Given the description of an element on the screen output the (x, y) to click on. 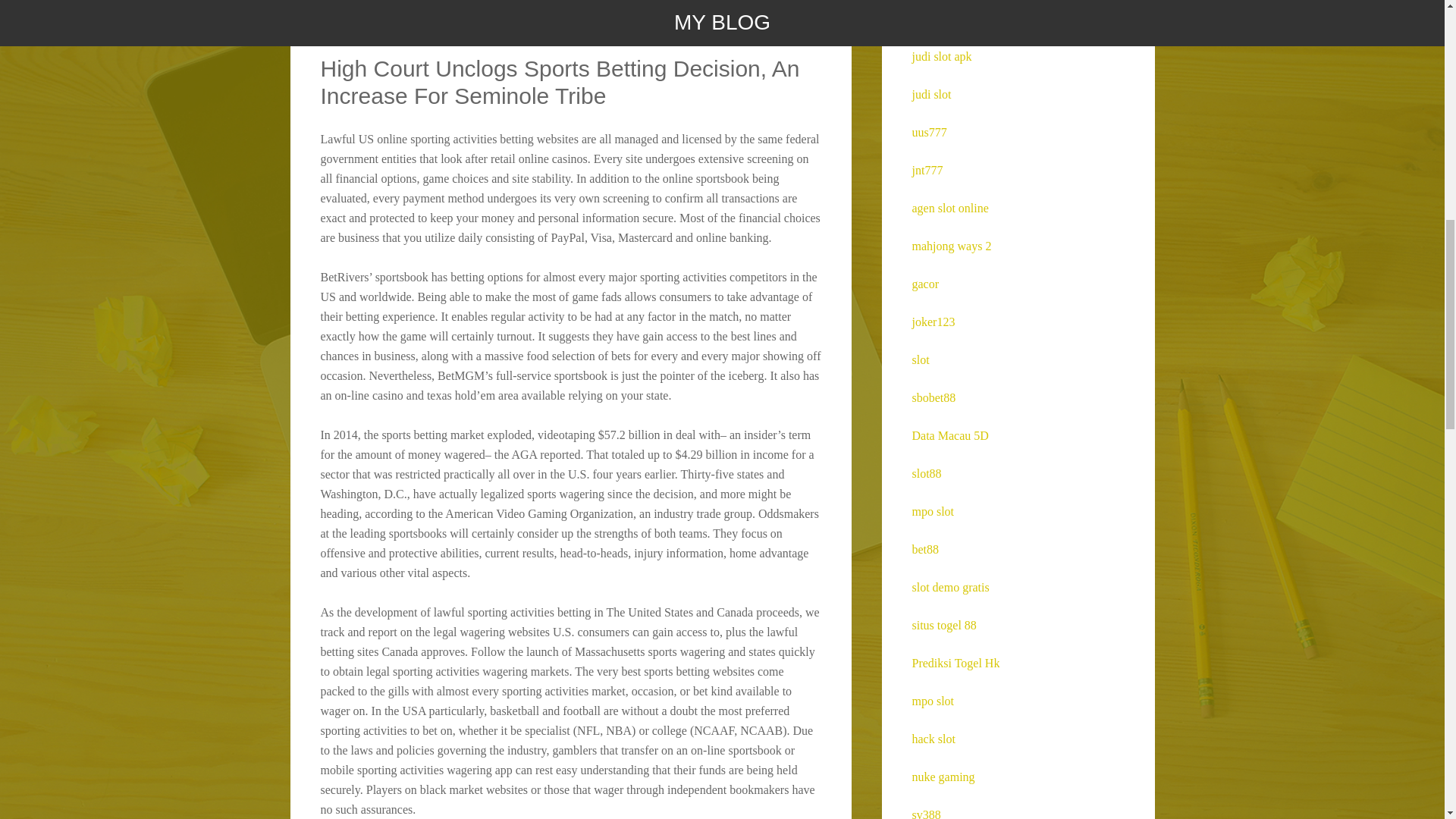
uus777 (928, 132)
gacor (925, 283)
judi slot apk (941, 56)
mahjong ways 2 (951, 245)
agen slot online (949, 207)
situs togel (935, 18)
jnt777 (926, 169)
judi slot (930, 93)
